Given the description of an element on the screen output the (x, y) to click on. 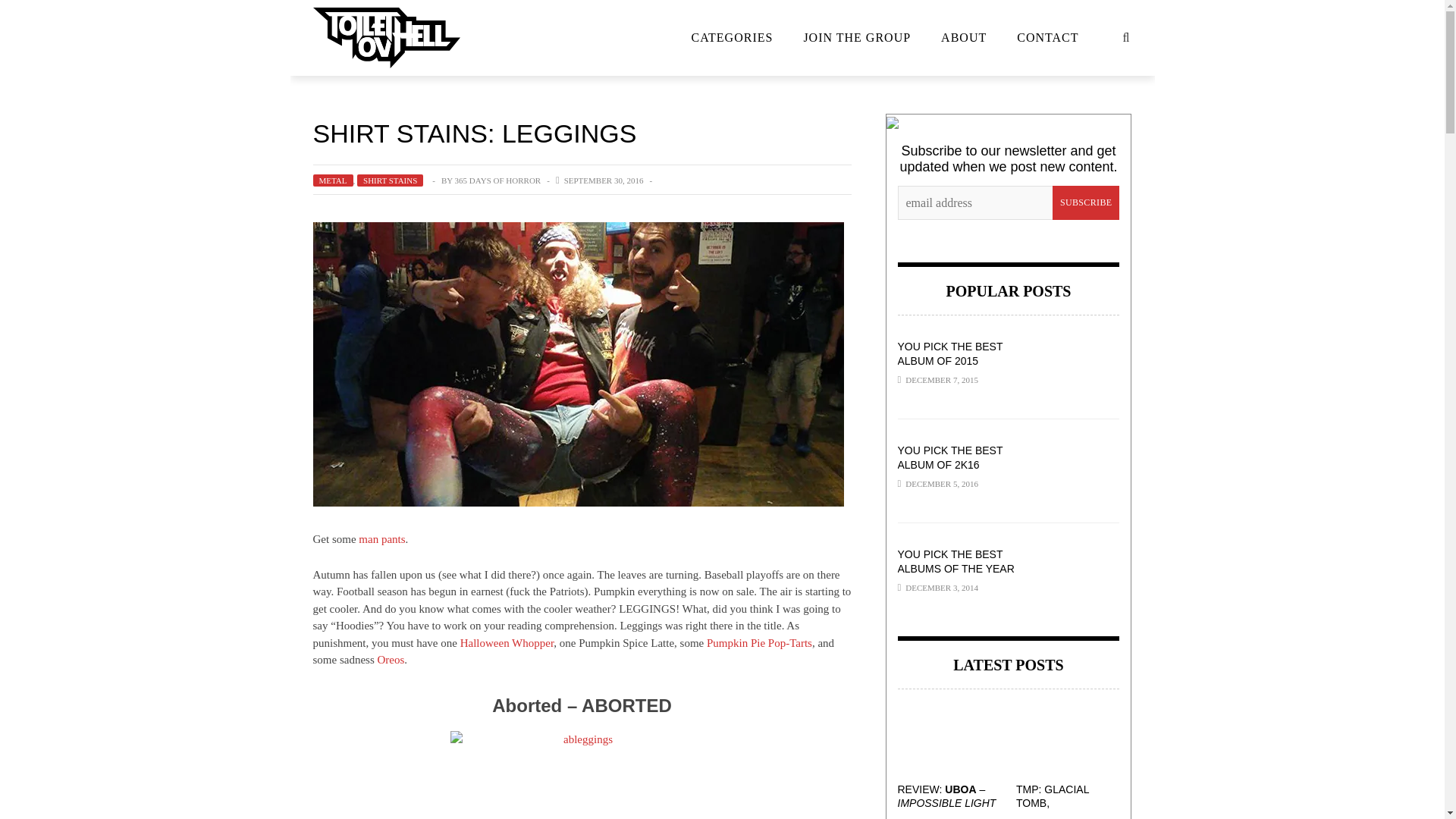
Subscribe (1085, 202)
CATEGORIES (733, 37)
